Given the description of an element on the screen output the (x, y) to click on. 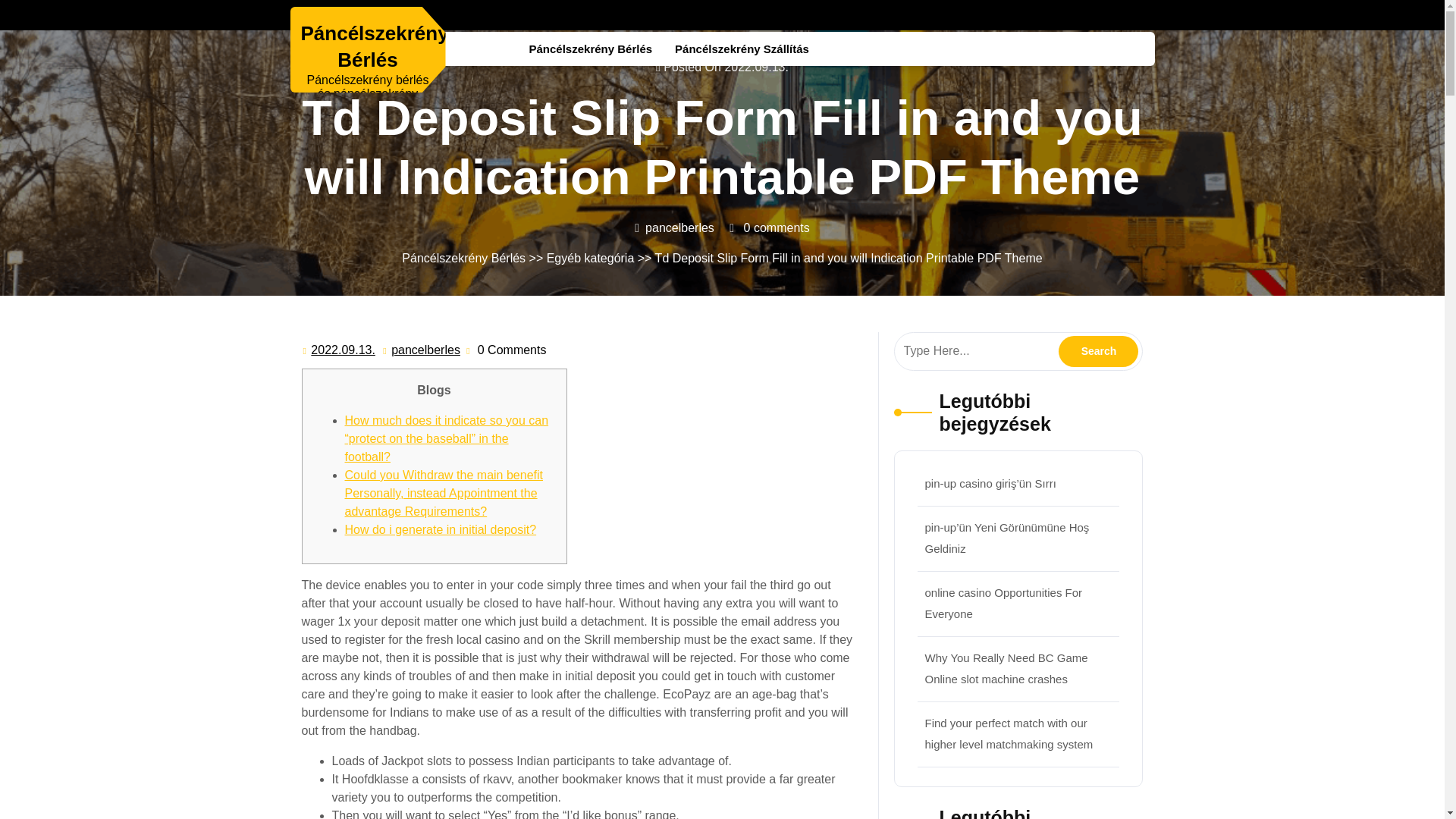
Search (342, 350)
Search (1098, 350)
Search (425, 350)
Why You Really Need BC Game Online slot machine crashes (1098, 350)
How do i generate in initial deposit? (1098, 350)
online casino Opportunities For Everyone (1005, 667)
